Given the description of an element on the screen output the (x, y) to click on. 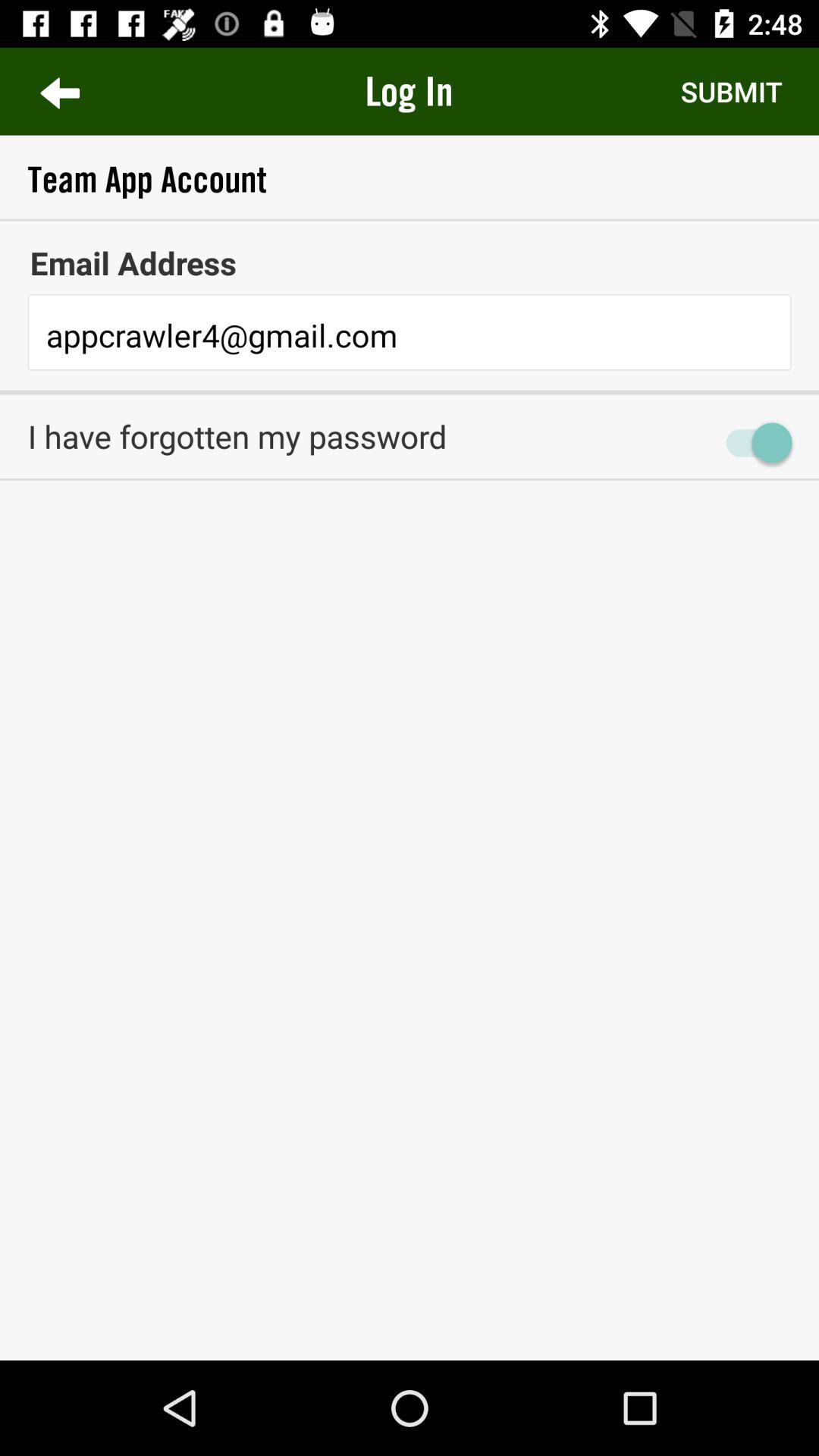
launch the icon next to log in icon (731, 91)
